Given the description of an element on the screen output the (x, y) to click on. 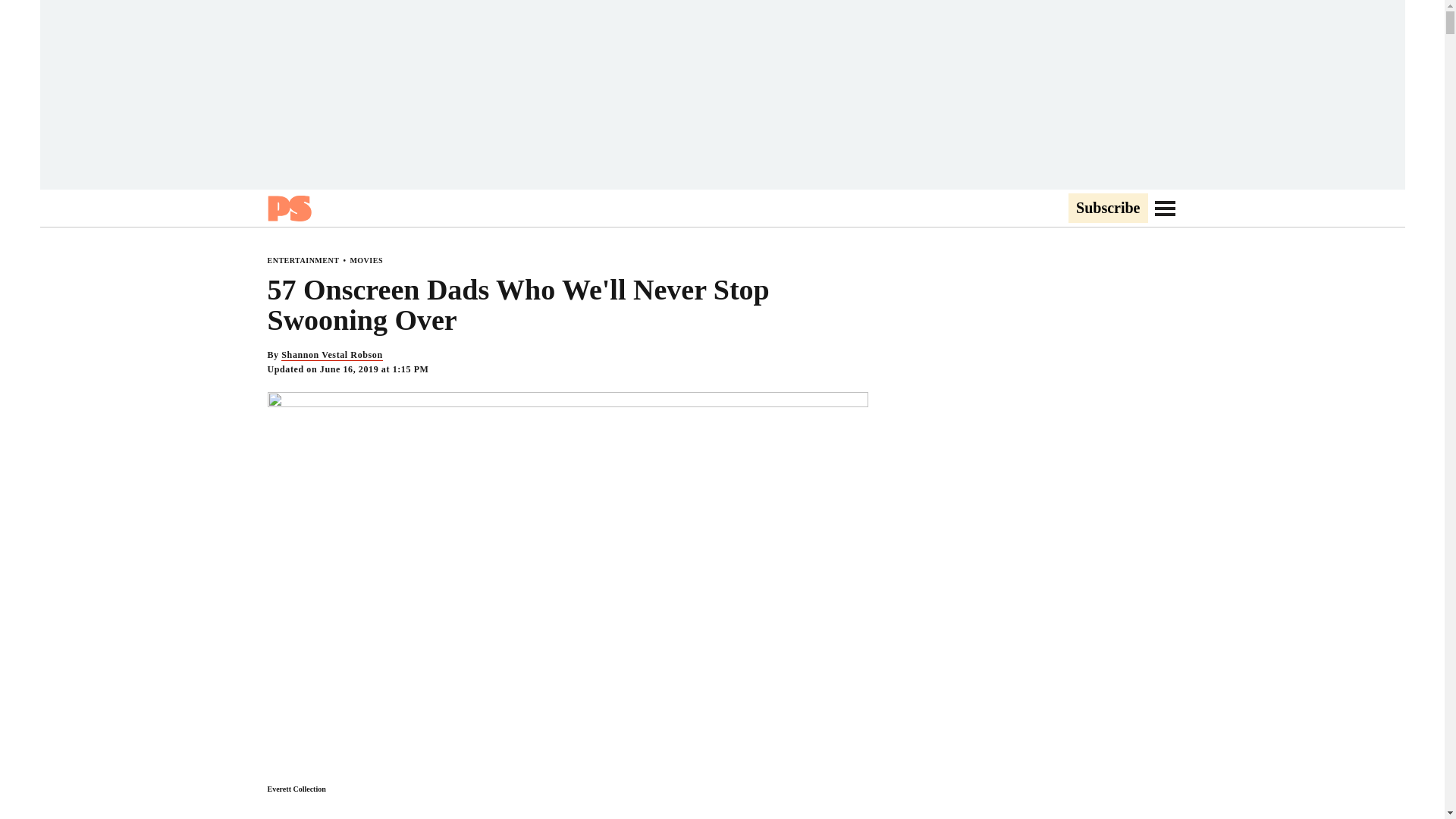
Everett Collection (295, 788)
MOVIES (365, 260)
Father's Day (517, 817)
Shannon Vestal Robson (331, 355)
Go to Navigation (1164, 207)
Subscribe (1107, 208)
ENTERTAINMENT (302, 260)
Popsugar (288, 208)
Go to Navigation (1164, 207)
